Given the description of an element on the screen output the (x, y) to click on. 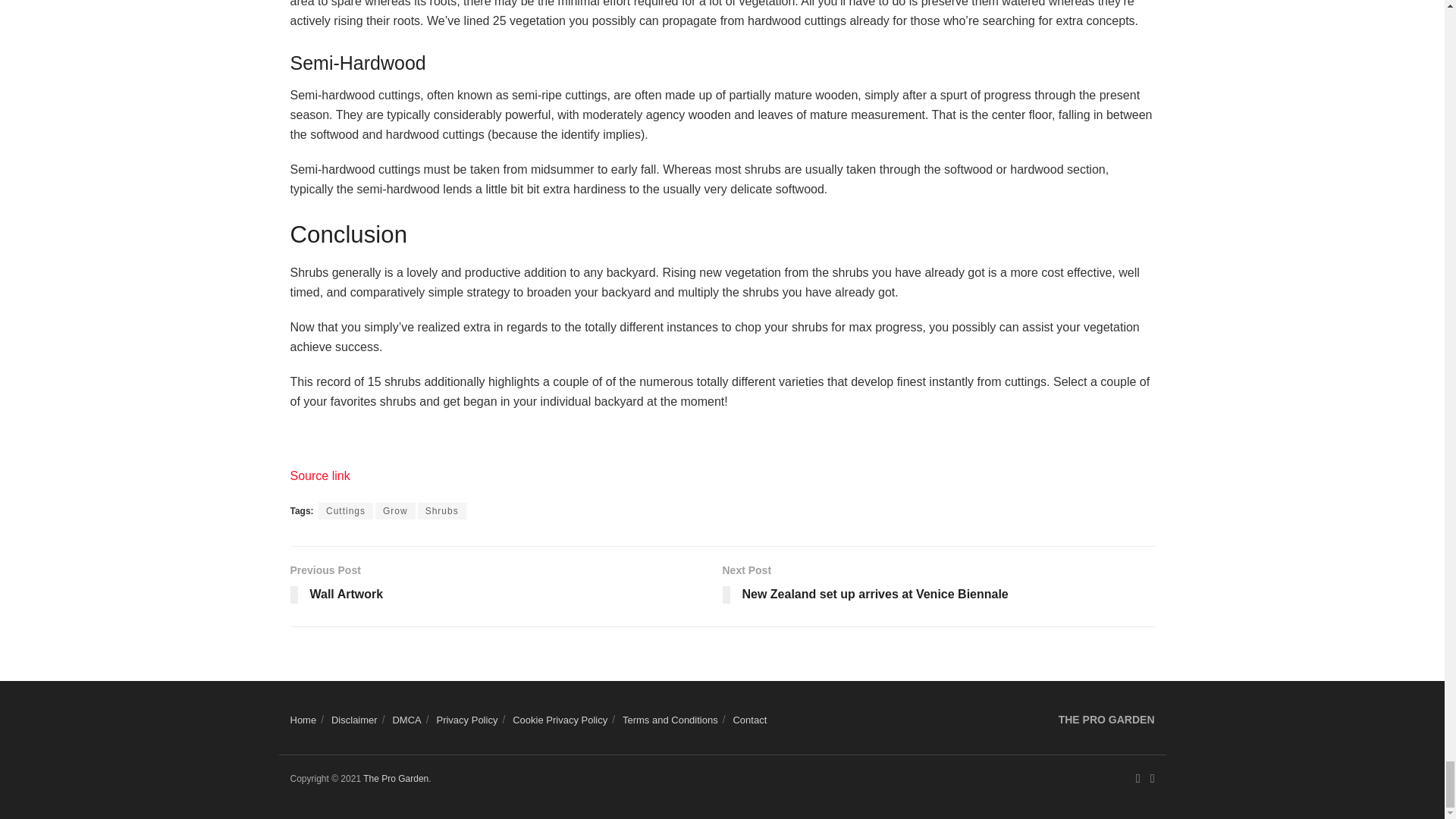
The Pro Garden (395, 778)
Source link (319, 475)
